Given the description of an element on the screen output the (x, y) to click on. 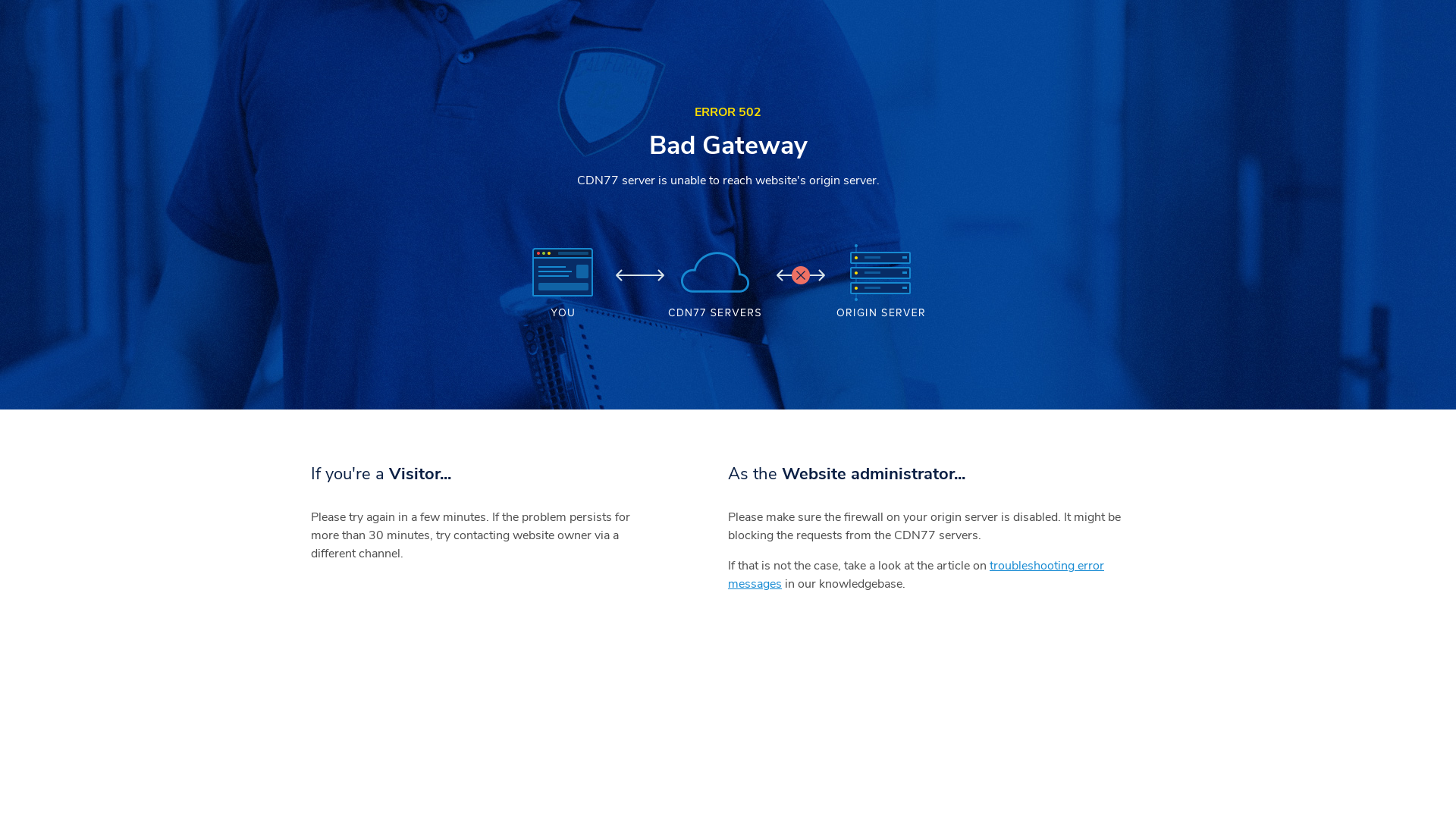
troubleshooting error messages Element type: text (916, 574)
